Given the description of an element on the screen output the (x, y) to click on. 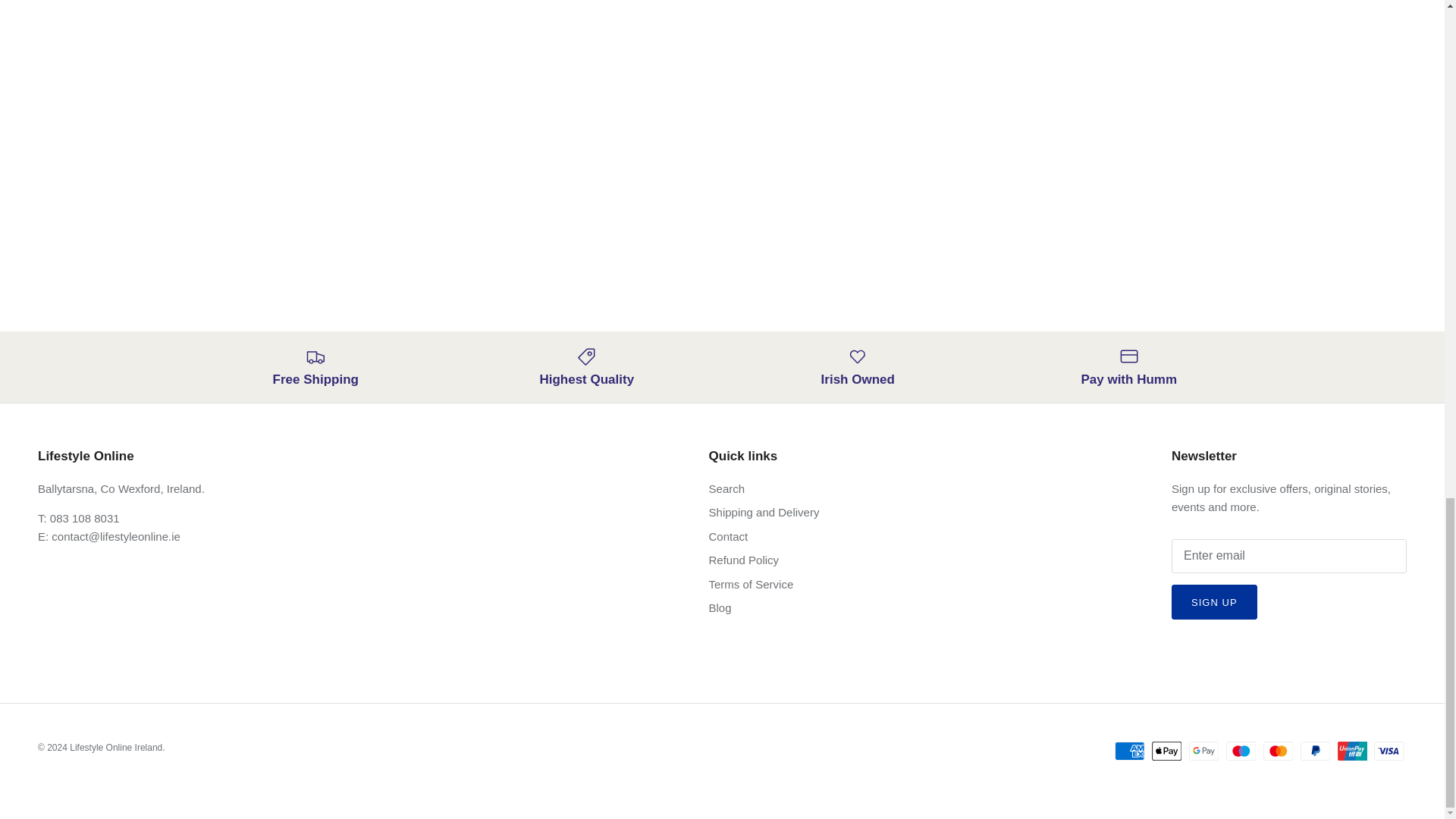
PayPal (1315, 751)
Visa (1388, 751)
Mastercard (1277, 751)
Apple Pay (1166, 751)
American Express (1129, 751)
Maestro (1240, 751)
Google Pay (1203, 751)
Union Pay (1352, 751)
